Given the description of an element on the screen output the (x, y) to click on. 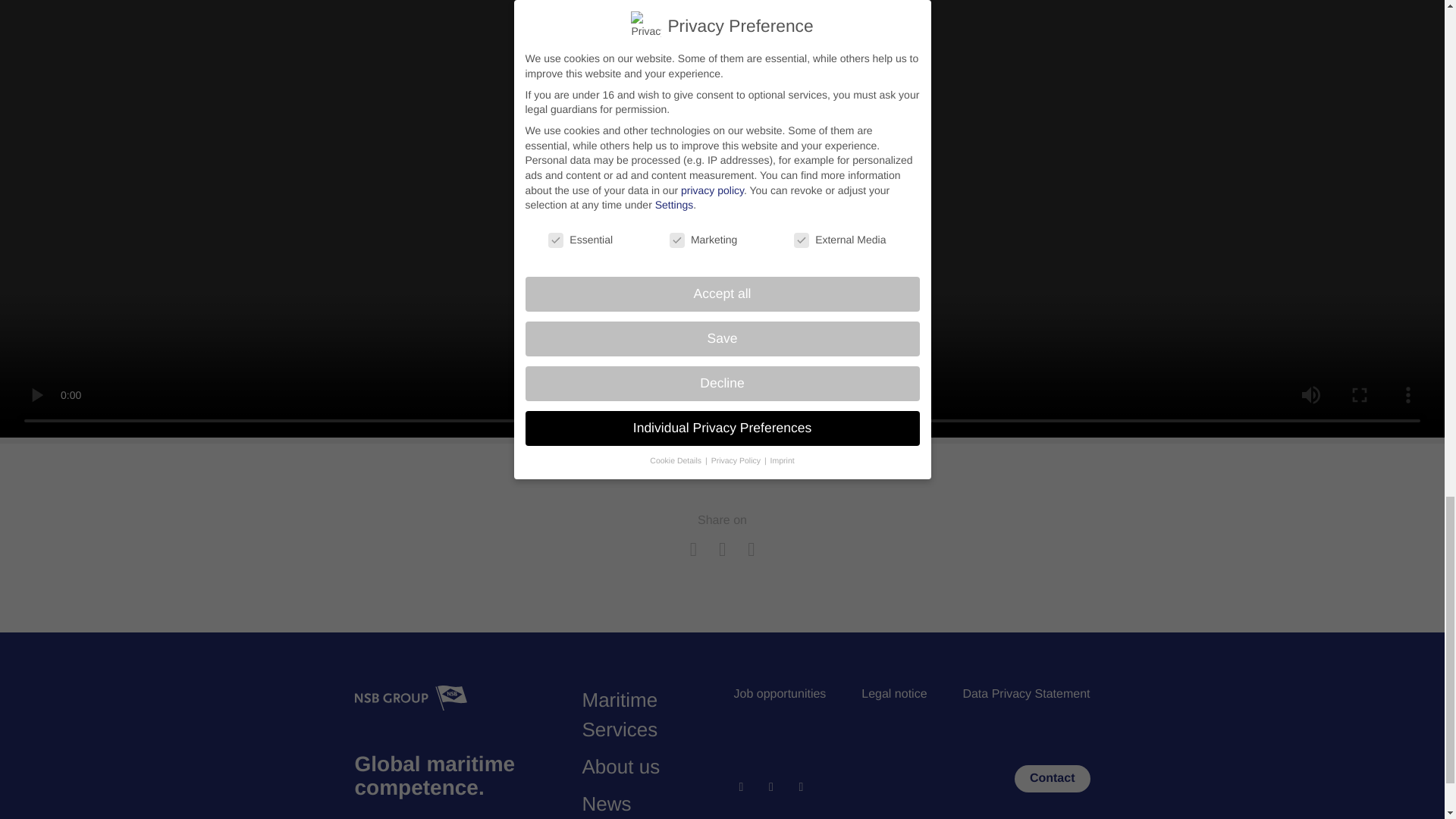
Maritime Services (620, 714)
About us (621, 766)
